Given the description of an element on the screen output the (x, y) to click on. 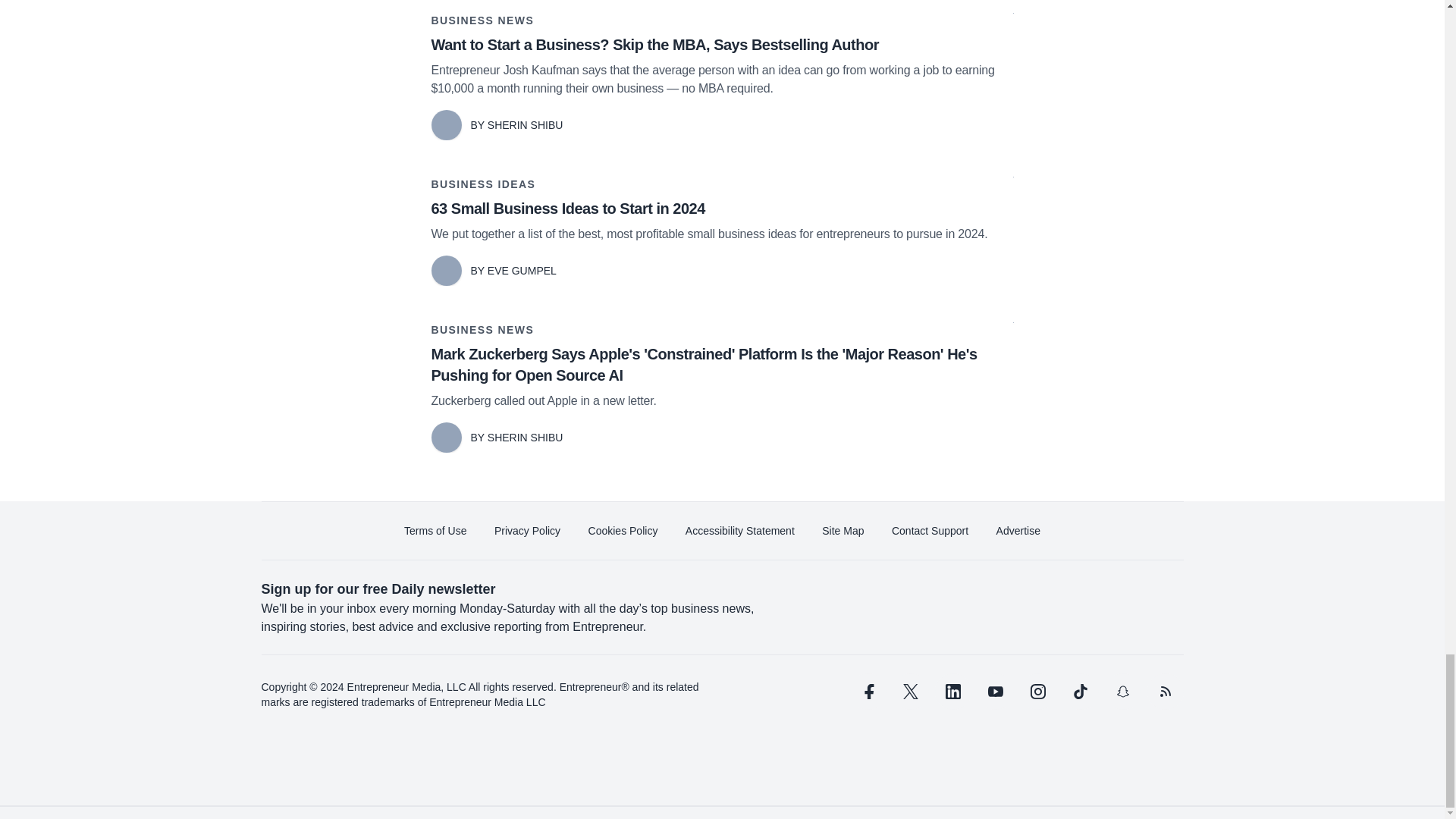
linkedin (952, 691)
instagram (1037, 691)
tiktok (1079, 691)
youtube (994, 691)
facebook (866, 691)
twitter (909, 691)
